Given the description of an element on the screen output the (x, y) to click on. 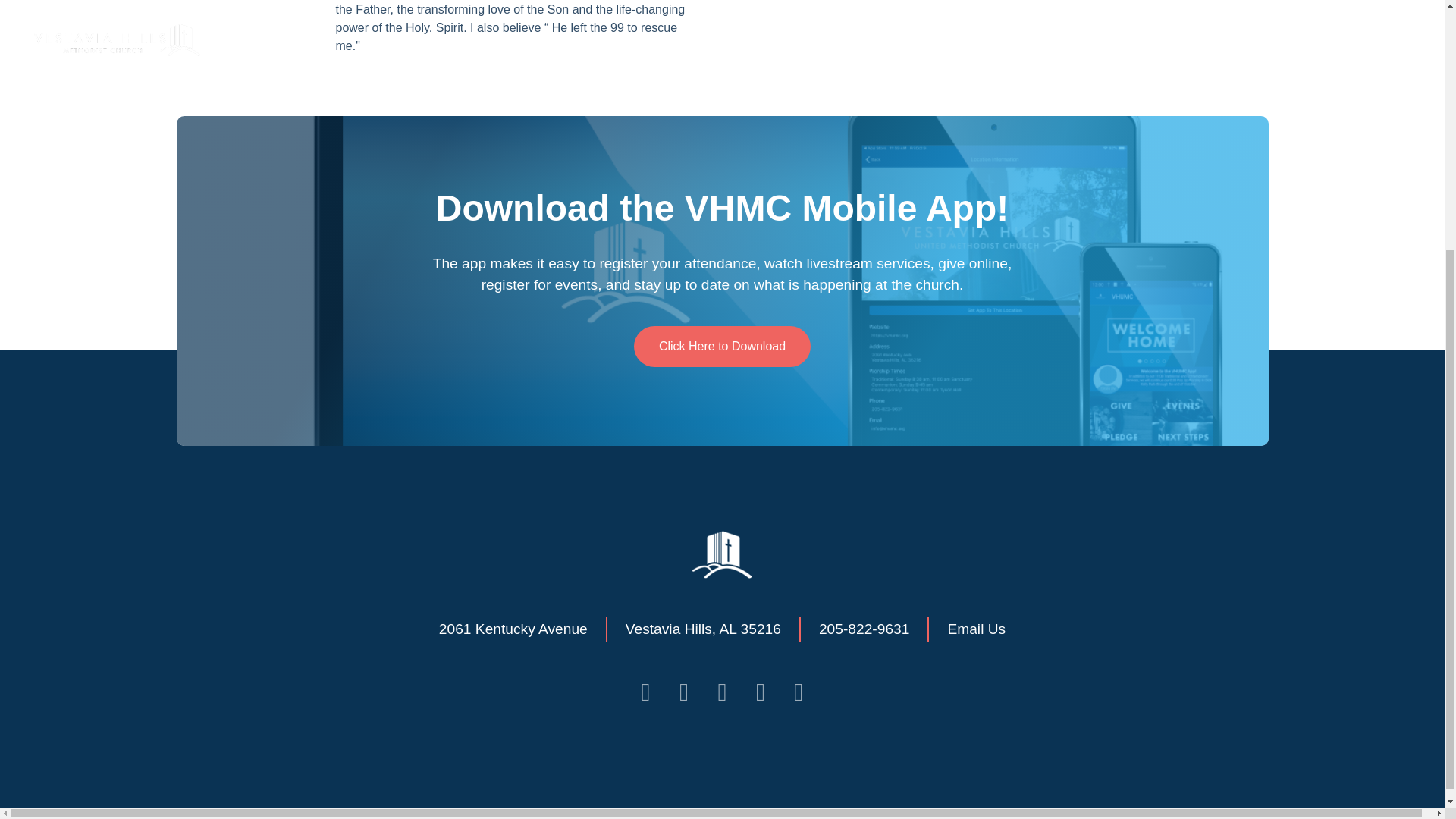
Download the VHMC App (721, 345)
